Given the description of an element on the screen output the (x, y) to click on. 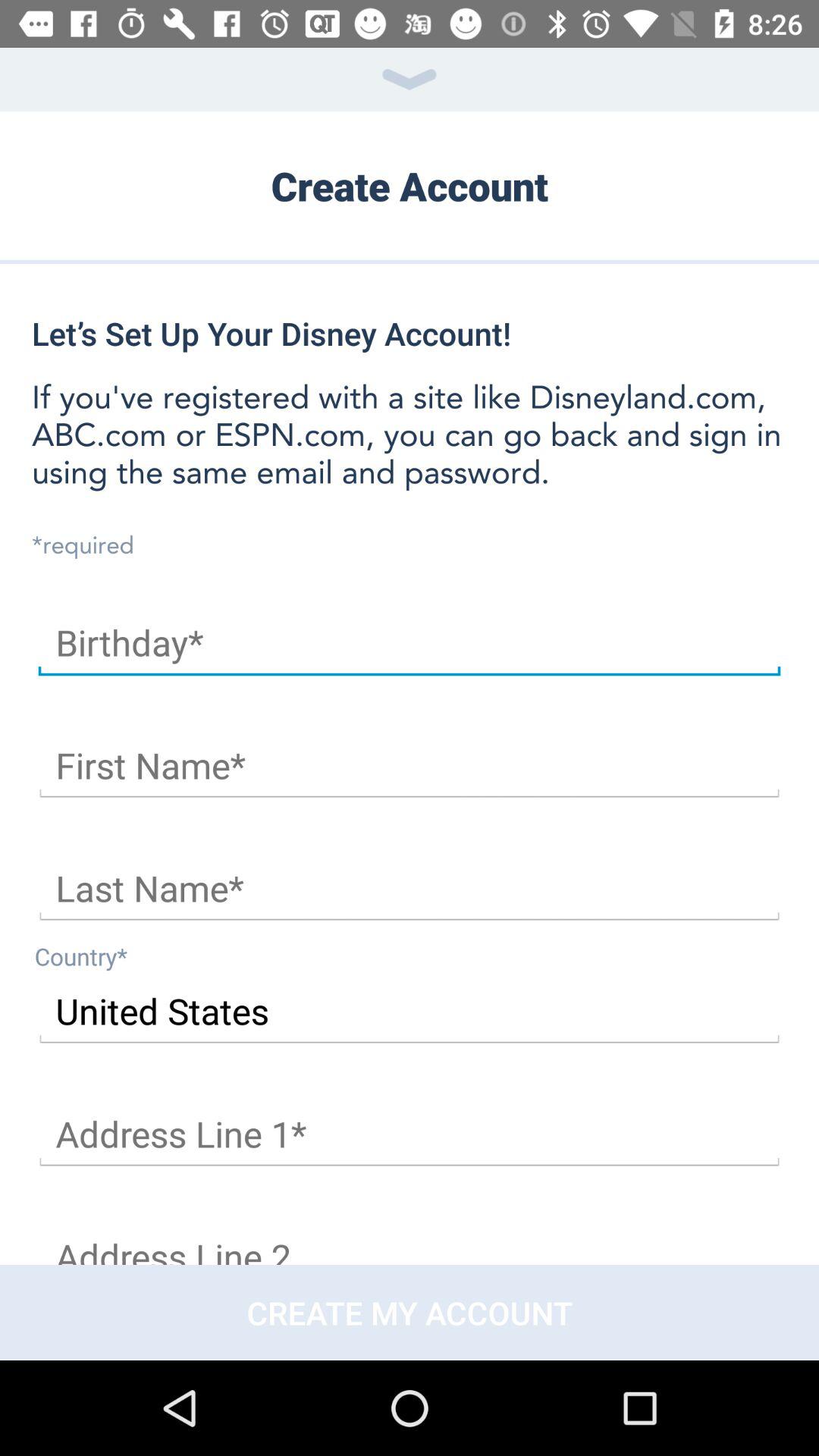
last name entry field (409, 888)
